Given the description of an element on the screen output the (x, y) to click on. 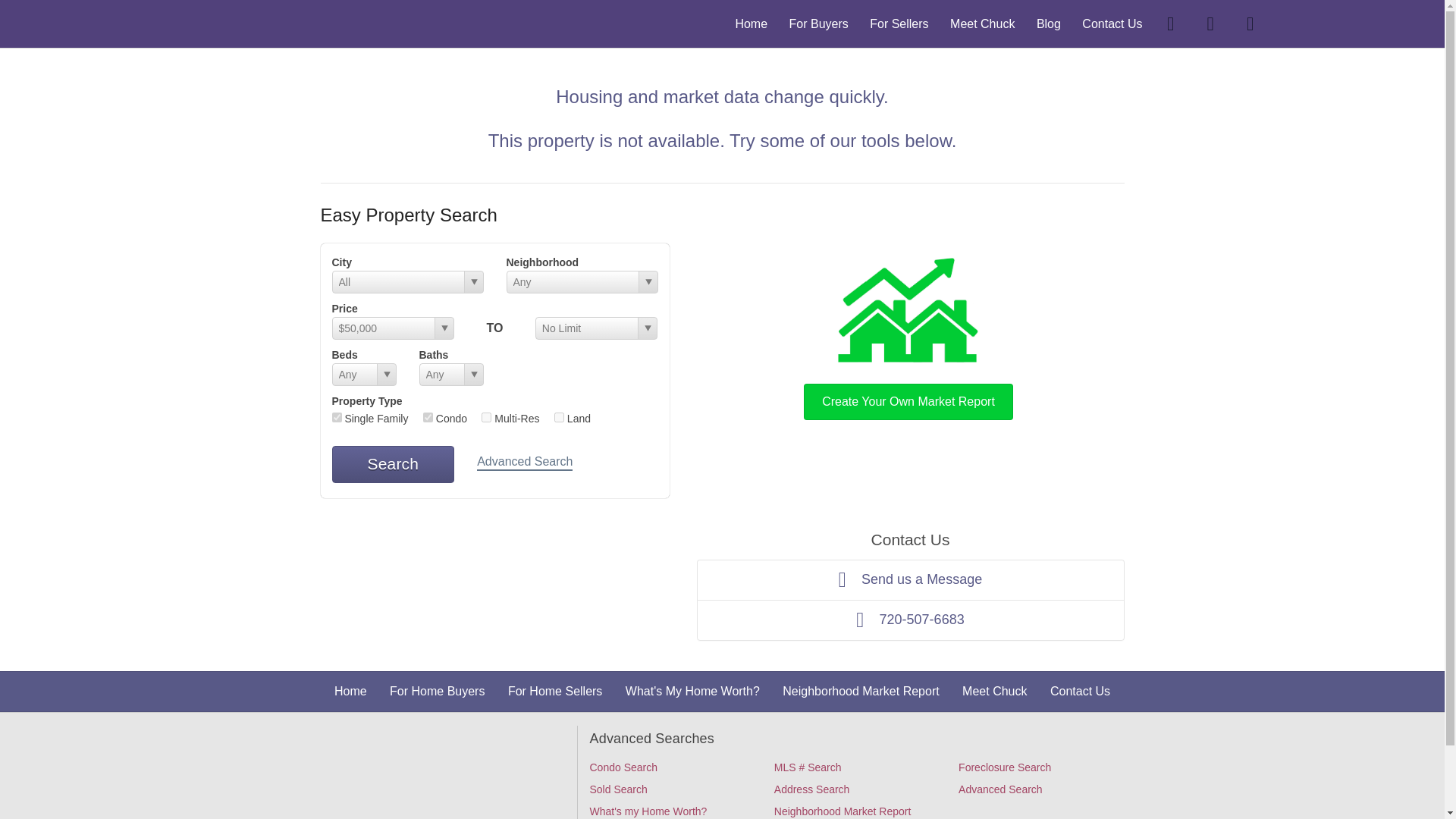
What's My Home Worth? (693, 690)
Home (751, 23)
720-507-6683 (909, 619)
What's my Home Worth? (648, 811)
Contact Us (1111, 23)
Advanced Search (524, 462)
Neighborhood Market Report (861, 690)
lnd (559, 417)
con (427, 417)
res (336, 417)
